Given the description of an element on the screen output the (x, y) to click on. 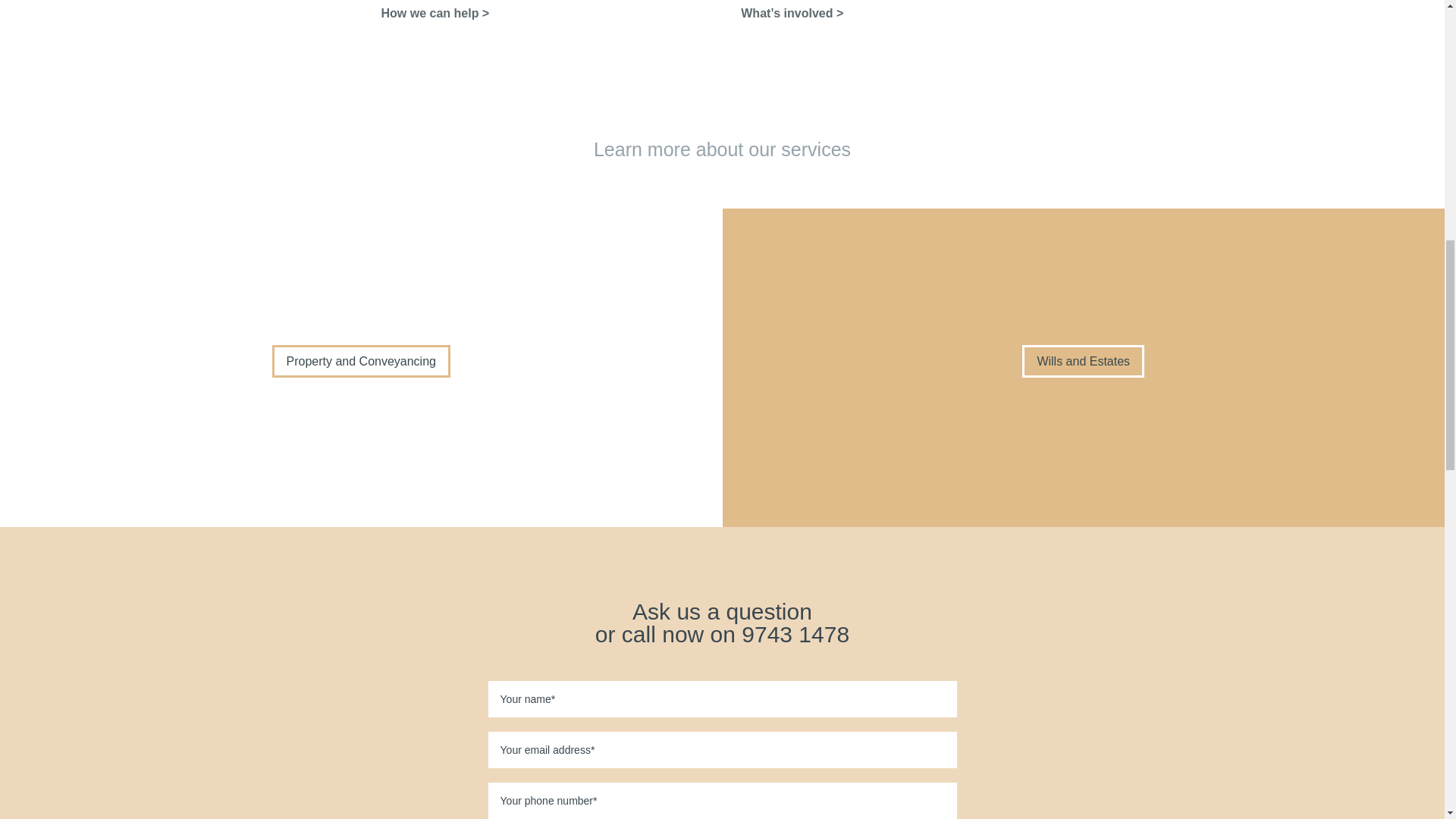
Wills and Estates (1083, 360)
Only numbers allowed. (721, 800)
Property and Conveyancing (360, 360)
9743 1478 (794, 634)
